Given the description of an element on the screen output the (x, y) to click on. 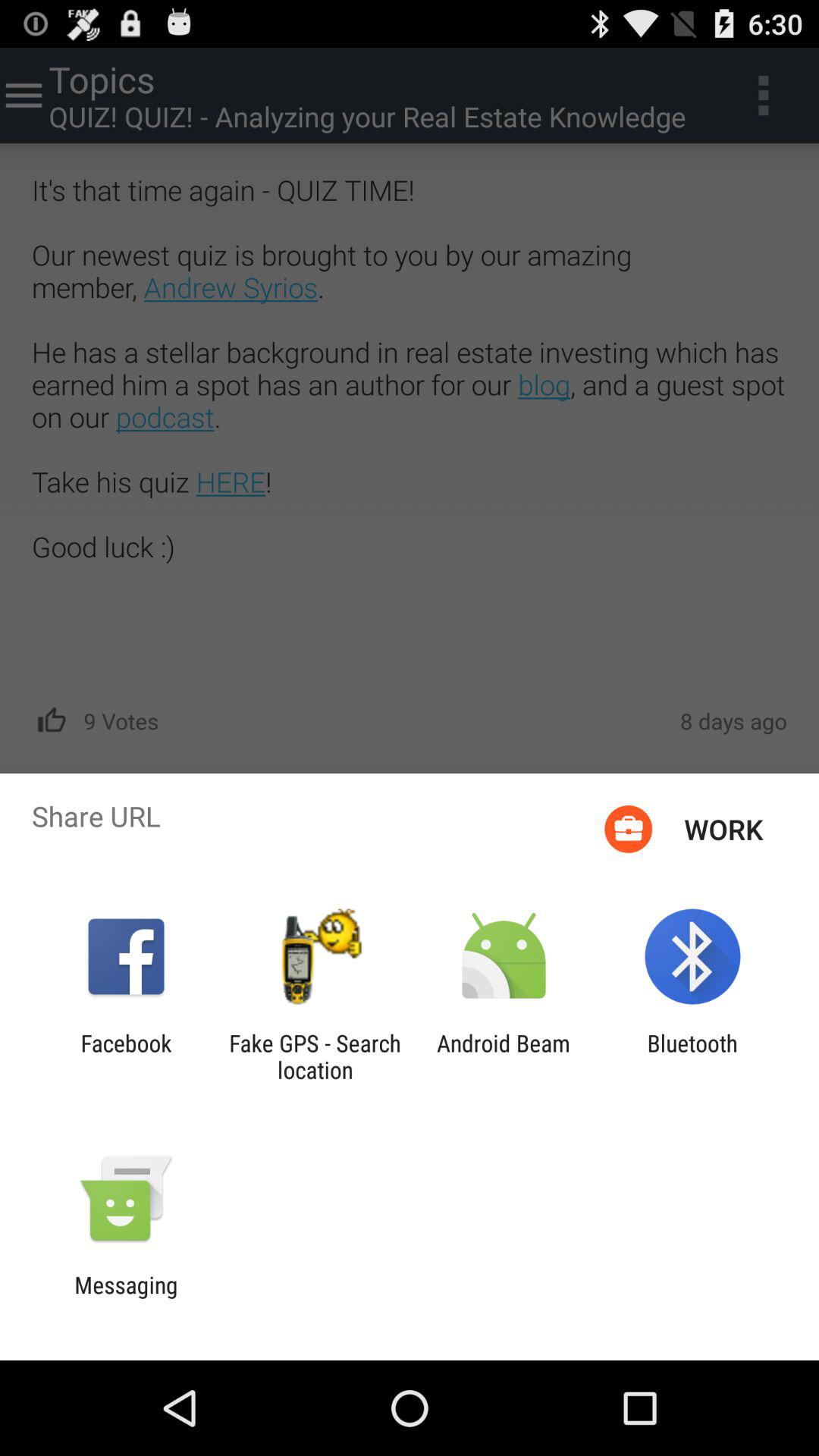
launch item to the left of android beam item (314, 1056)
